Given the description of an element on the screen output the (x, y) to click on. 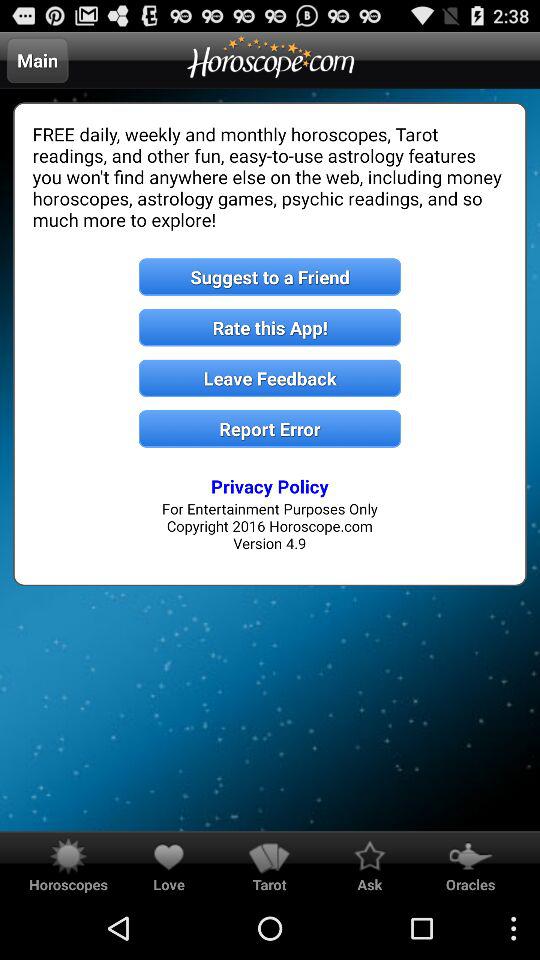
launch the button at the top left corner (37, 60)
